Given the description of an element on the screen output the (x, y) to click on. 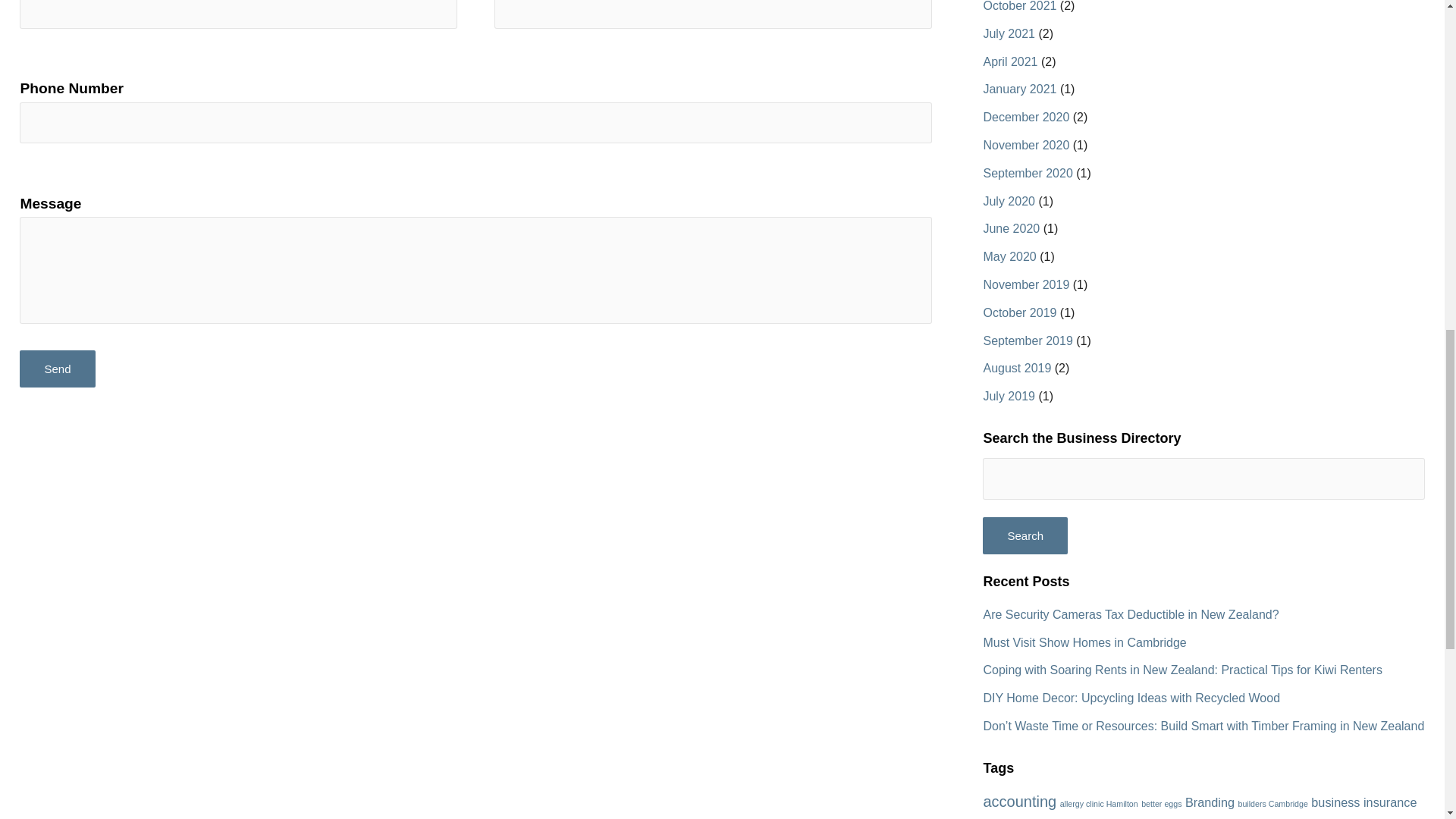
Send (57, 368)
Send (57, 368)
Search (1024, 535)
Search (1024, 535)
